Given the description of an element on the screen output the (x, y) to click on. 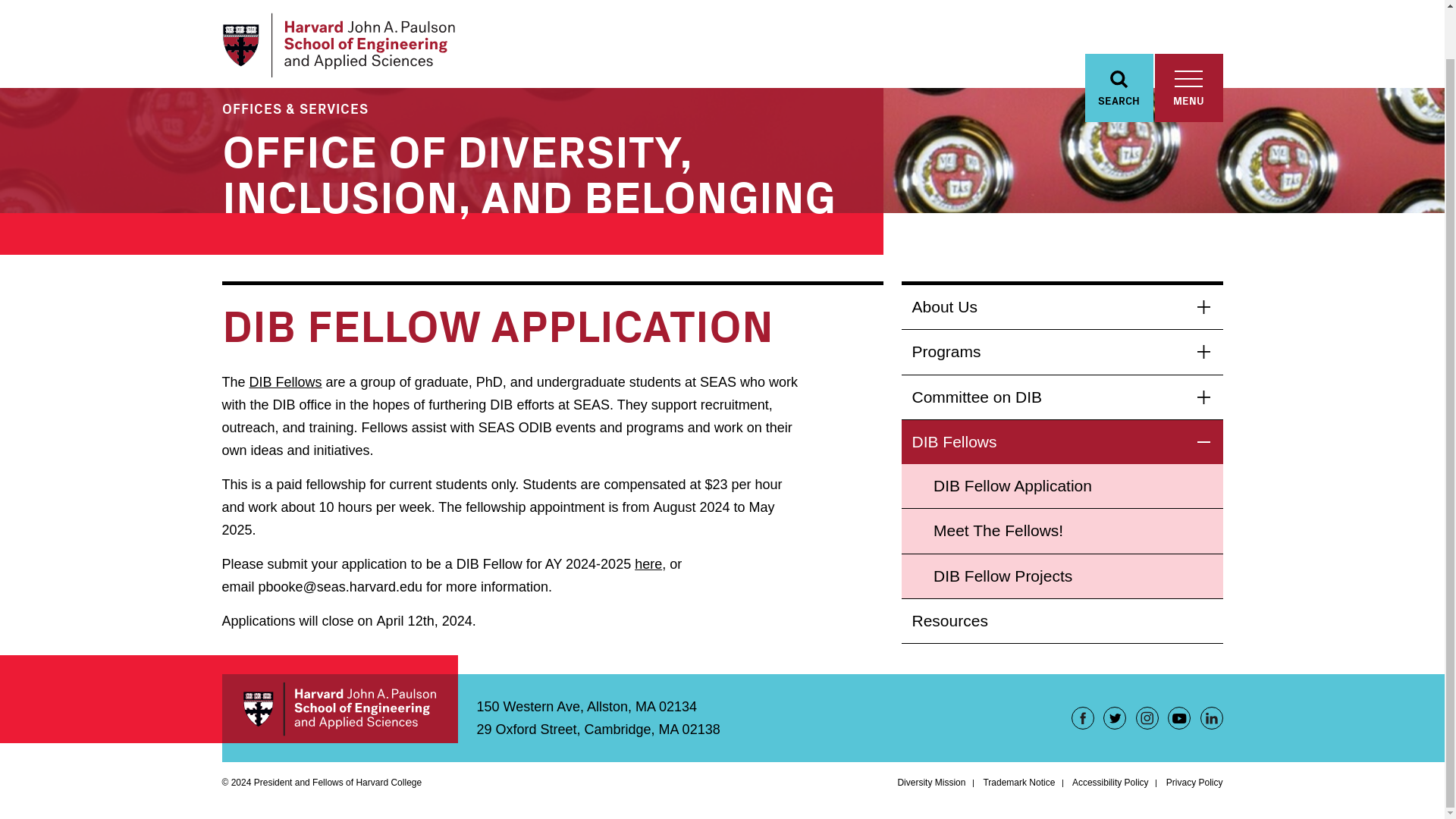
About Us (1062, 307)
SEARCH (1118, 35)
MENU (1188, 35)
OFFICE OF DIVERSITY, INCLUSION, AND BELONGING (527, 171)
Programs (1062, 351)
here (648, 563)
DIB Fellows (284, 381)
Committee on DIB (1062, 397)
